Given the description of an element on the screen output the (x, y) to click on. 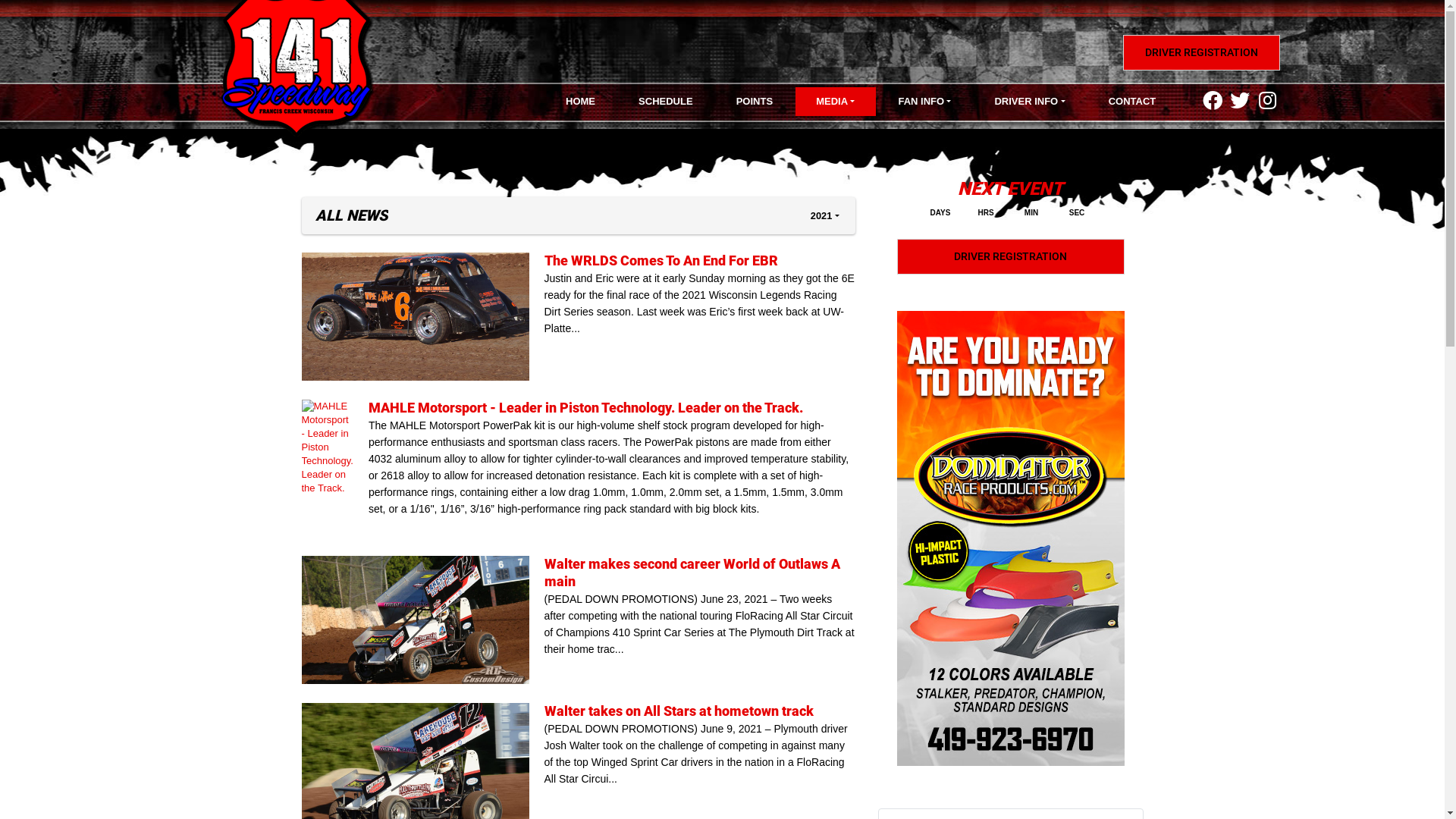
DRIVER REGISTRATION Element type: text (1200, 52)
The WRLDS Comes To An End For EBR Element type: hover (422, 316)
Walter makes second career World of Outlaws A main Element type: hover (422, 619)
Follow 141 Speedway on Instagram! Element type: hover (1267, 98)
HOME Element type: text (579, 101)
Follow 141 Speedway on Twitter! Element type: hover (1241, 98)
POINTS Element type: text (754, 101)
Friend 141 Speedway on Facebook! Element type: hover (1213, 98)
FAN INFO Element type: text (924, 101)
DRIVER REGISTRATION Element type: text (1009, 256)
CONTACT Element type: text (1131, 101)
2021 Element type: text (824, 215)
DRIVER INFO Element type: text (1029, 101)
Walter takes on All Stars at hometown track Element type: text (678, 710)
SCHEDULE Element type: text (666, 101)
MEDIA Element type: text (835, 101)
The WRLDS Comes To An End For EBR Element type: text (661, 260)
Walter makes second career World of Outlaws A main Element type: text (692, 572)
